Given the description of an element on the screen output the (x, y) to click on. 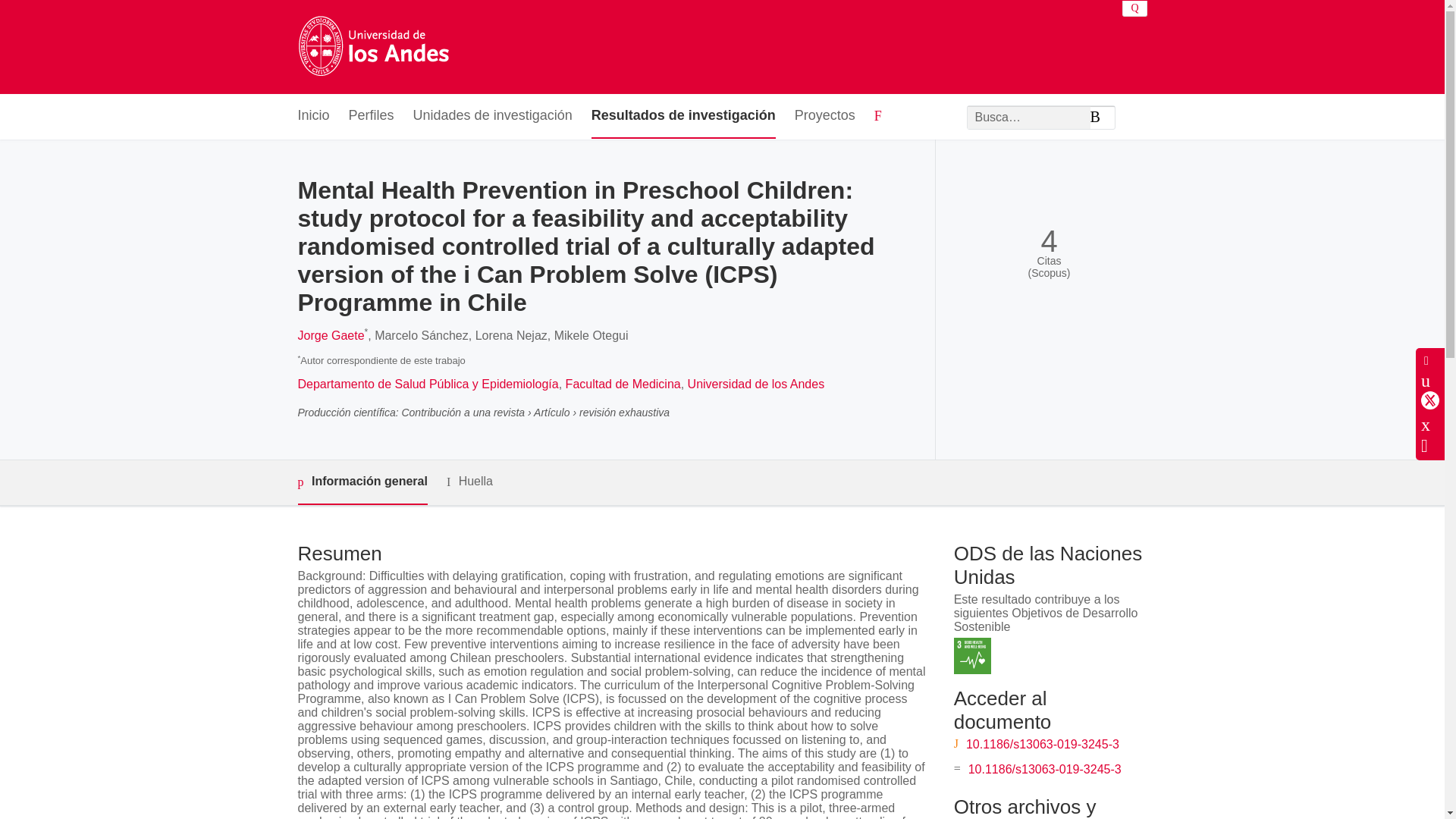
Huella (469, 481)
Proyectos (825, 116)
Jorge Gaete (330, 335)
Universidad de los Andes (756, 383)
Facultad de Medicina (623, 383)
Universidad de los Andes Inicio (372, 46)
Perfiles (371, 116)
